Given the description of an element on the screen output the (x, y) to click on. 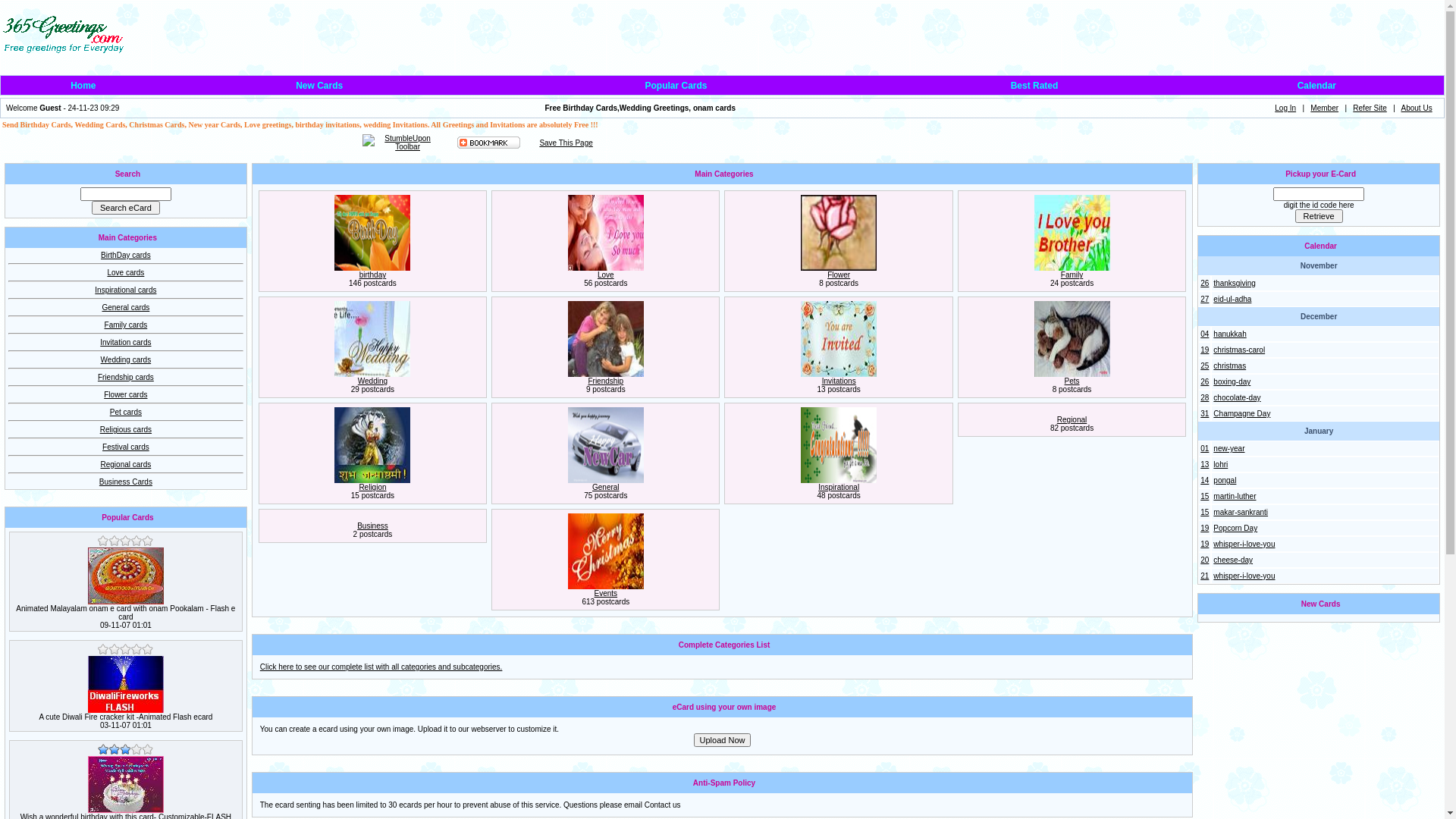
26 Element type: text (1204, 283)
04 Element type: text (1204, 333)
Religious cards Element type: text (125, 429)
Home Element type: text (82, 85)
New Cards Element type: text (318, 85)
Friendship cards Element type: text (125, 377)
boxing-day Element type: text (1231, 381)
whisper-i-love-you Element type: text (1243, 575)
Flower Element type: text (838, 274)
15 Element type: text (1204, 512)
eid-ul-adha Element type: text (1232, 298)
31 Element type: text (1204, 413)
01 Element type: text (1204, 448)
Member Element type: text (1324, 107)
14 Element type: text (1204, 480)
Wedding Element type: text (372, 380)
Champagne Day Element type: text (1241, 413)
19 Element type: text (1204, 543)
Regional cards Element type: text (125, 464)
Festival cards Element type: text (125, 446)
13 Element type: text (1204, 464)
19 Element type: text (1204, 349)
lohri Element type: text (1220, 464)
pongal Element type: text (1224, 480)
hanukkah Element type: text (1229, 333)
BirthDay cards Element type: text (125, 255)
chocolate-day Element type: text (1236, 397)
new-year Element type: text (1228, 448)
Love Element type: text (605, 274)
Family Element type: text (1071, 274)
Inspirational cards Element type: text (125, 289)
25 Element type: text (1204, 365)
Friendship Element type: text (605, 380)
Religion Element type: text (371, 487)
Business Cards Element type: text (125, 481)
birthday Element type: text (372, 274)
Flower cards Element type: text (125, 394)
21 Element type: text (1204, 575)
Pets Element type: text (1071, 380)
thanksgiving Element type: text (1234, 283)
Popcorn Day Element type: text (1235, 528)
cheese-day Element type: text (1232, 559)
19 Element type: text (1204, 528)
makar-sankranti Element type: text (1240, 512)
whisper-i-love-you Element type: text (1243, 543)
Events Element type: text (606, 593)
martin-luther Element type: text (1234, 496)
Advertisement Element type: hover (1166, 36)
Invitations Element type: text (839, 380)
Regional Element type: text (1071, 419)
Family cards Element type: text (125, 324)
Wedding cards Element type: text (125, 359)
Popular Cards Element type: text (675, 85)
Calendar Element type: text (1316, 85)
 Retrieve  Element type: text (1319, 215)
Log In Element type: text (1284, 107)
About Us Element type: text (1416, 107)
27 Element type: text (1204, 298)
christmas Element type: text (1229, 365)
Business Element type: text (372, 525)
28 Element type: text (1204, 397)
Refer Site Element type: text (1369, 107)
20 Element type: text (1204, 559)
christmas-carol Element type: text (1238, 349)
Pet cards Element type: text (125, 411)
26 Element type: text (1204, 381)
15 Element type: text (1204, 496)
 Search eCard  Element type: text (125, 207)
Advertisement Element type: hover (181, 141)
Love cards Element type: text (125, 272)
Upload Now Element type: text (722, 739)
General cards Element type: text (125, 307)
Save This Page Element type: text (565, 142)
Best Rated Element type: text (1034, 85)
Inspirational Element type: text (838, 487)
Invitation cards Element type: text (125, 342)
General Element type: text (605, 487)
